Given the description of an element on the screen output the (x, y) to click on. 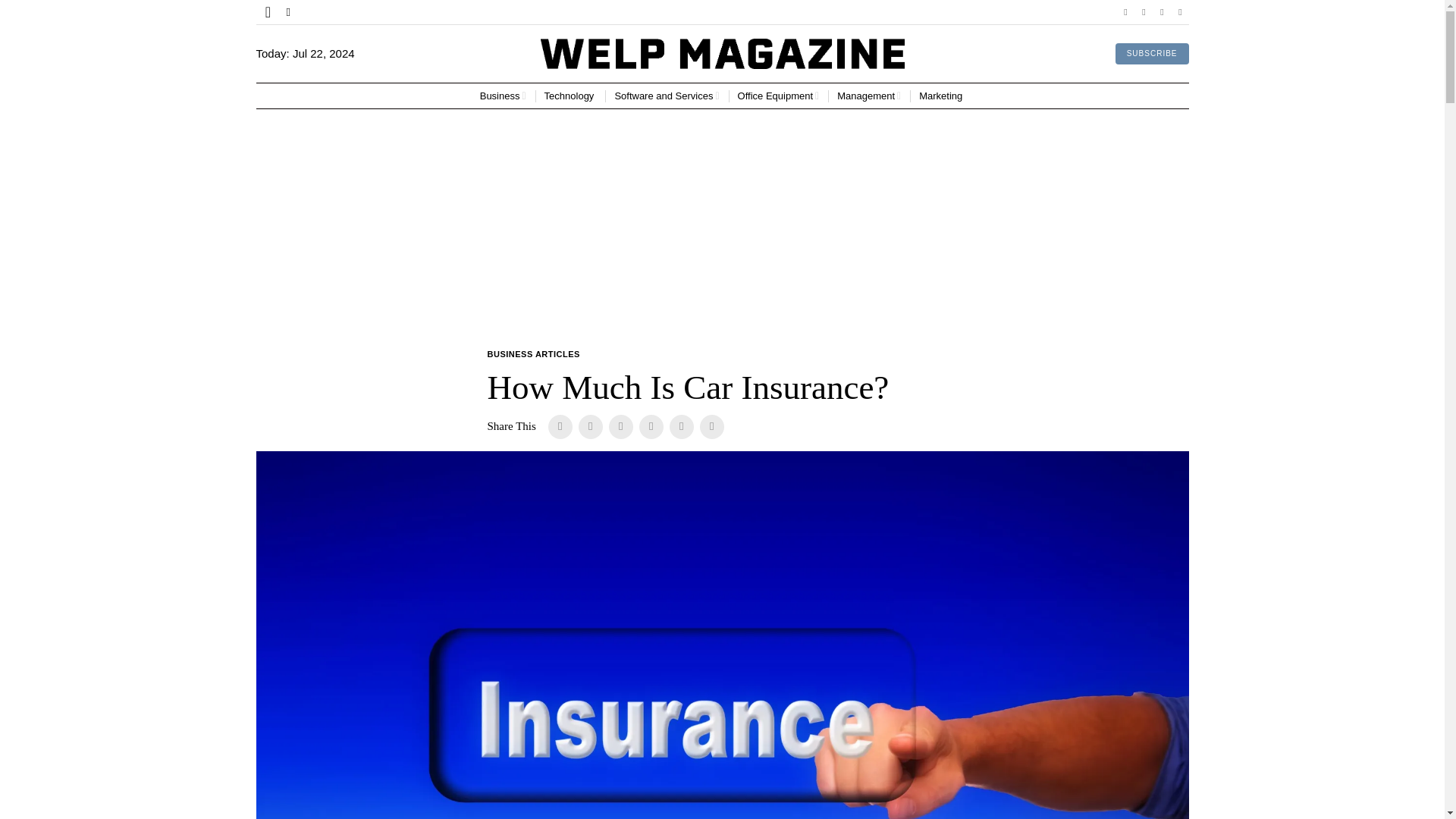
Business (502, 95)
Software and Services (666, 95)
Technology (570, 95)
SUBSCRIBE (1152, 53)
Marketing (942, 95)
Office Equipment (778, 95)
BUSINESS ARTICLES (532, 354)
Management (869, 95)
